Given the description of an element on the screen output the (x, y) to click on. 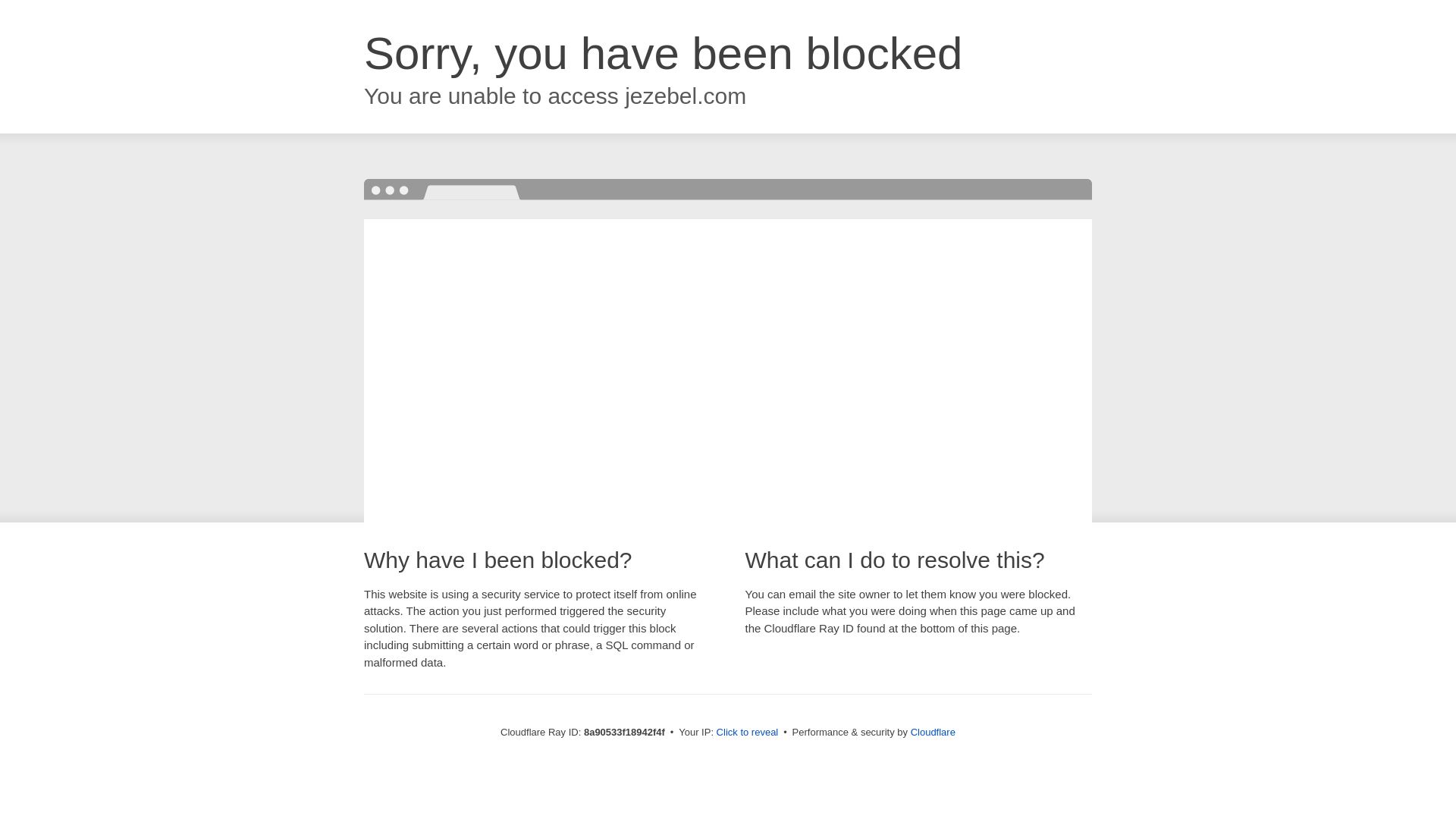
Click to reveal (747, 732)
Cloudflare (933, 731)
